Given the description of an element on the screen output the (x, y) to click on. 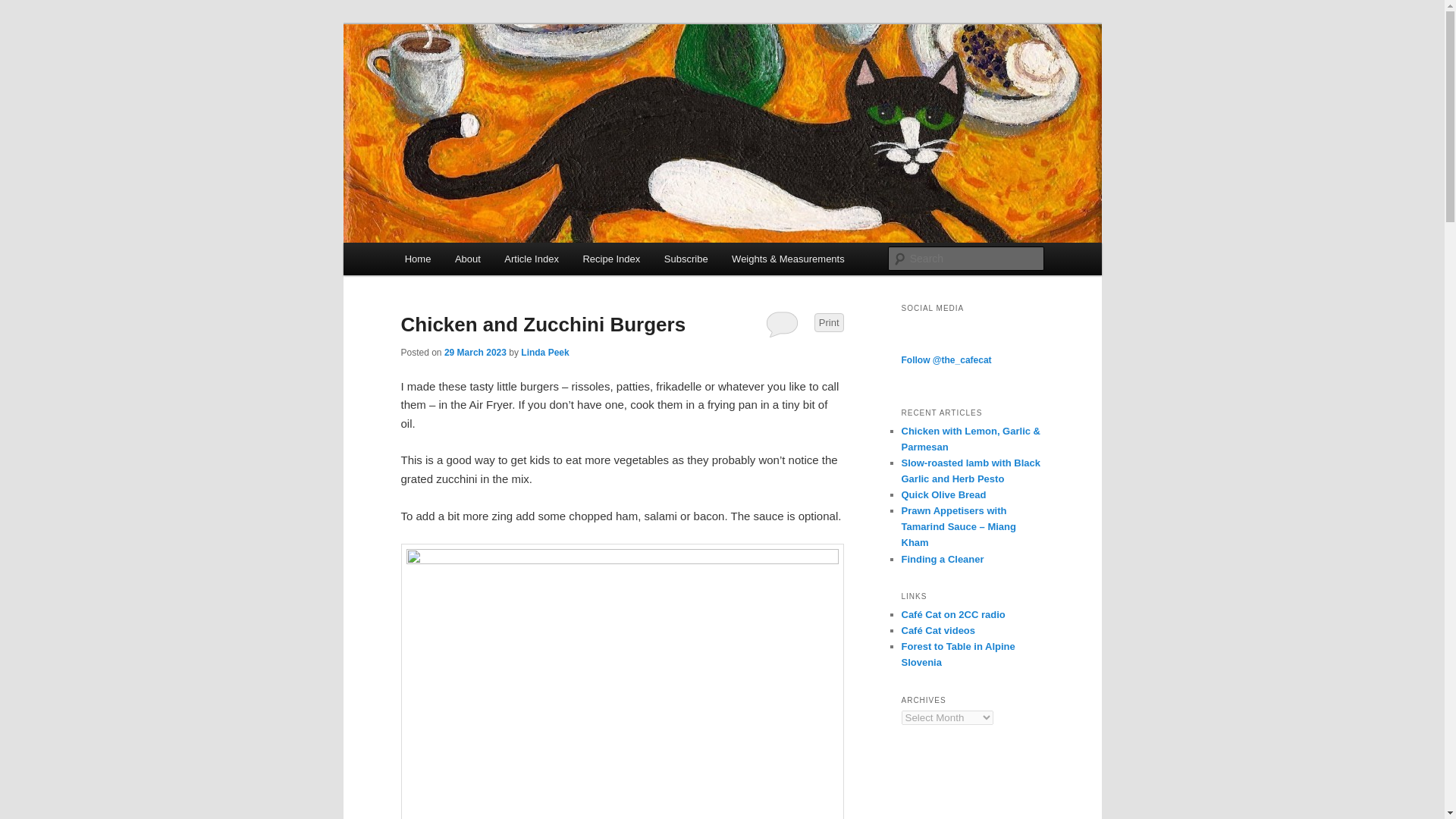
Linda Peek (545, 352)
Quick Olive Bread (943, 494)
Forest to Table in Alpine Slovenia (957, 654)
Recipe Index (611, 258)
Print (828, 321)
Article Index (531, 258)
Search (24, 8)
Home (417, 258)
Finding a Cleaner (942, 559)
Subscribe (685, 258)
Slow-roasted lamb with Black Garlic and Herb Pesto (971, 470)
29 March 2023 (475, 352)
About (467, 258)
